Given the description of an element on the screen output the (x, y) to click on. 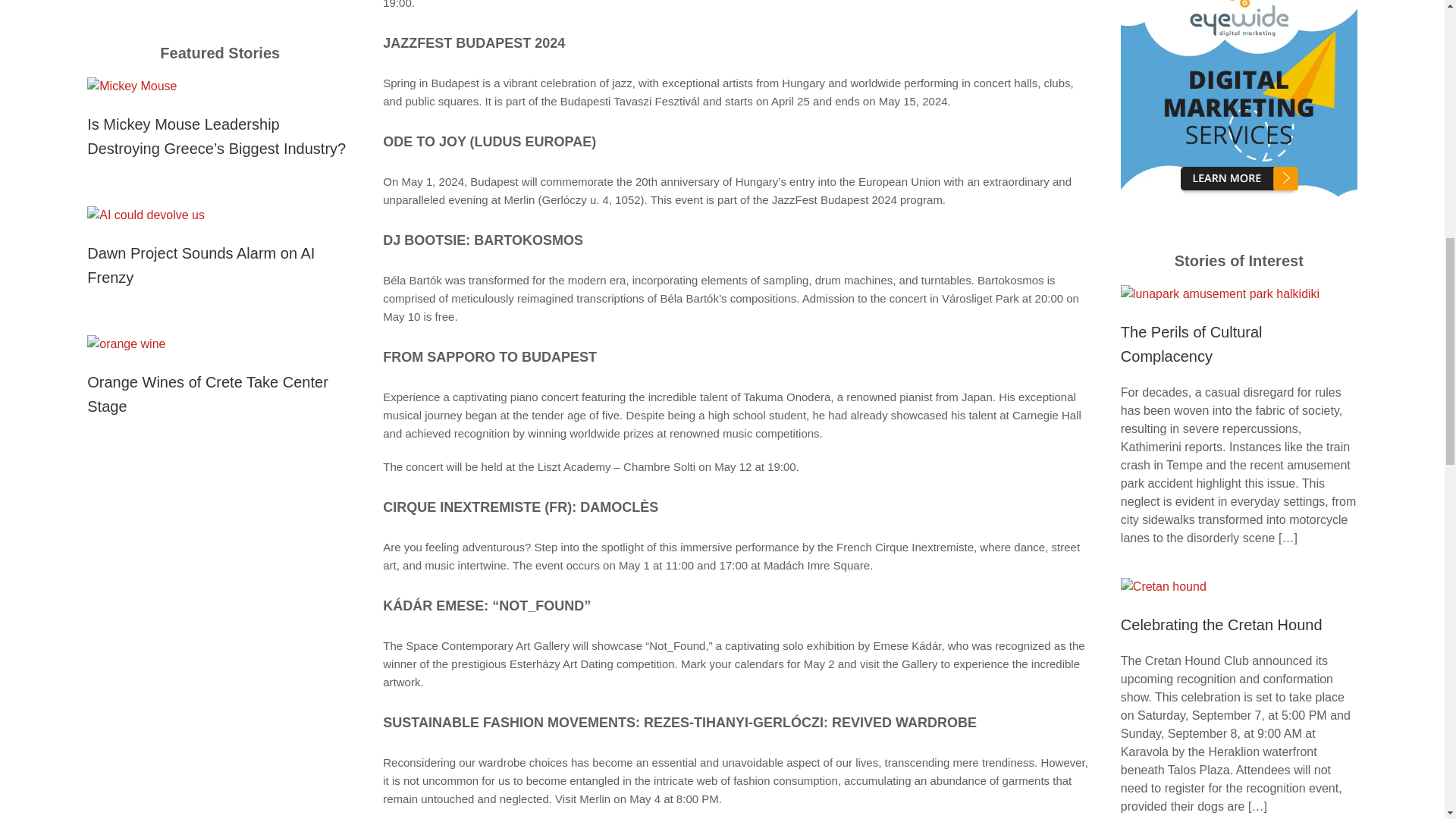
The Perils of Cultural Complacency (1191, 343)
Orange Wines of Crete Take Center Stage (208, 393)
Dawn Project Sounds Alarm on AI Frenzy (200, 264)
